Given the description of an element on the screen output the (x, y) to click on. 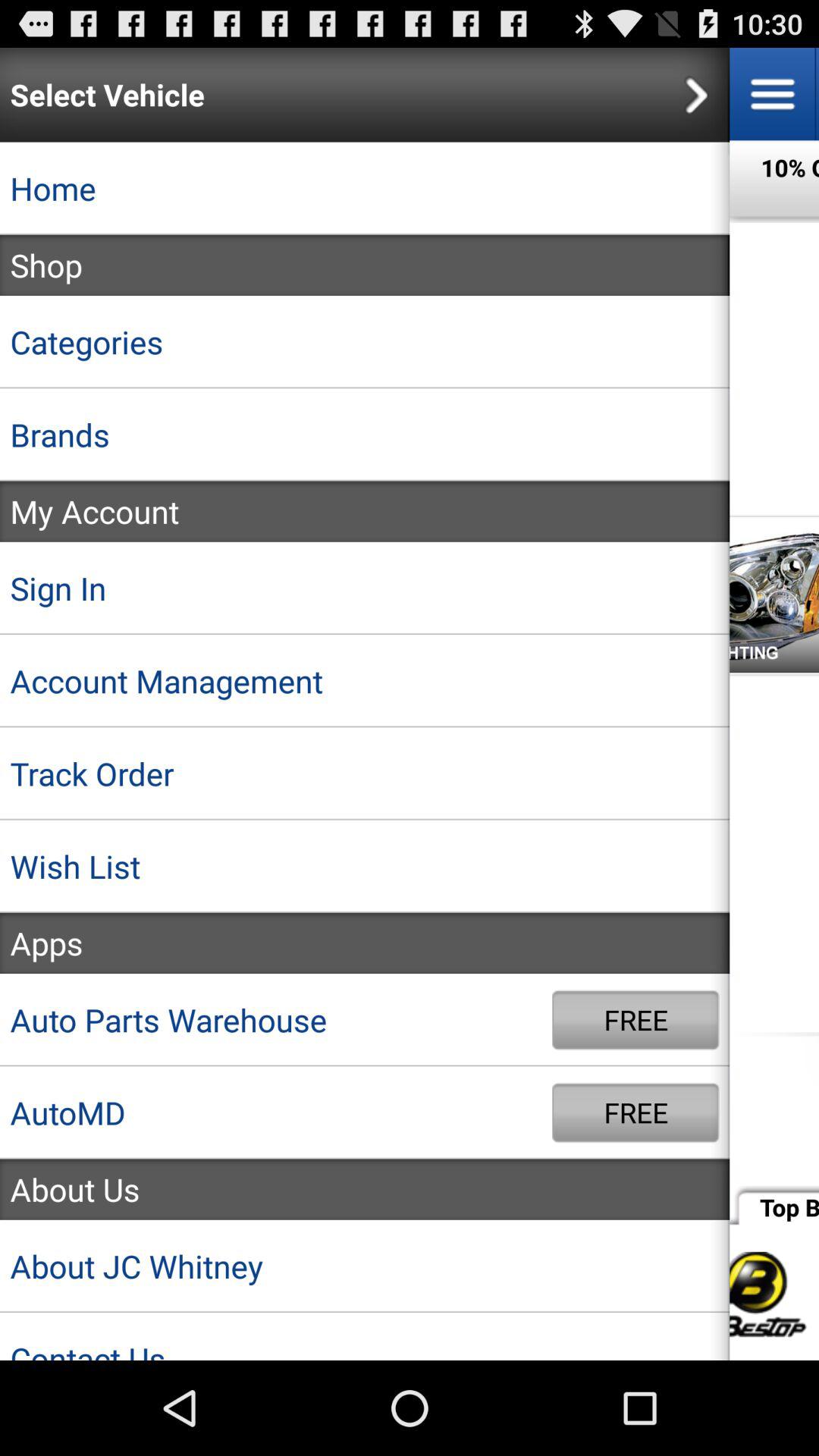
launch about jc whitney (364, 1265)
